Given the description of an element on the screen output the (x, y) to click on. 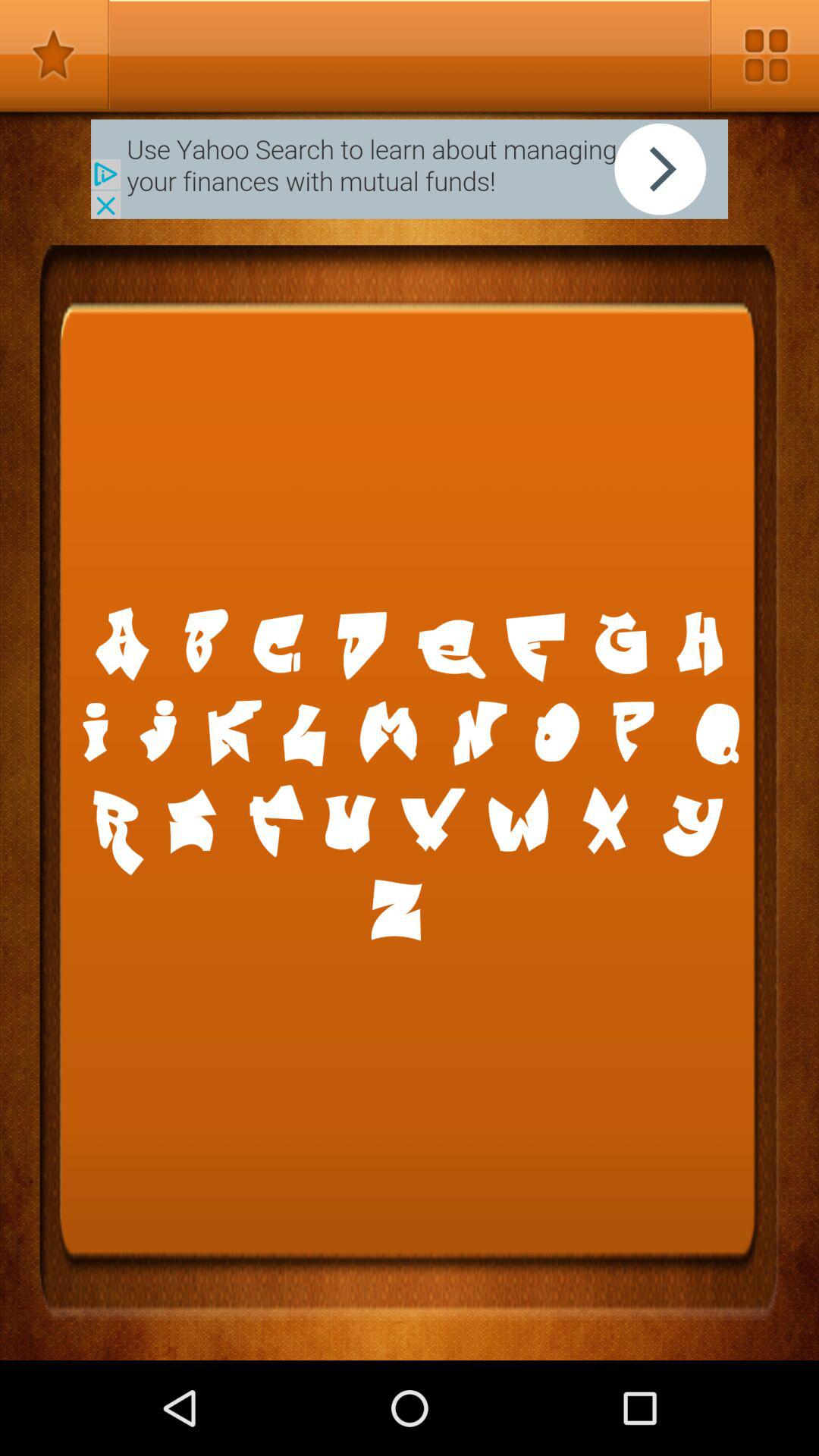
favorite (54, 54)
